Given the description of an element on the screen output the (x, y) to click on. 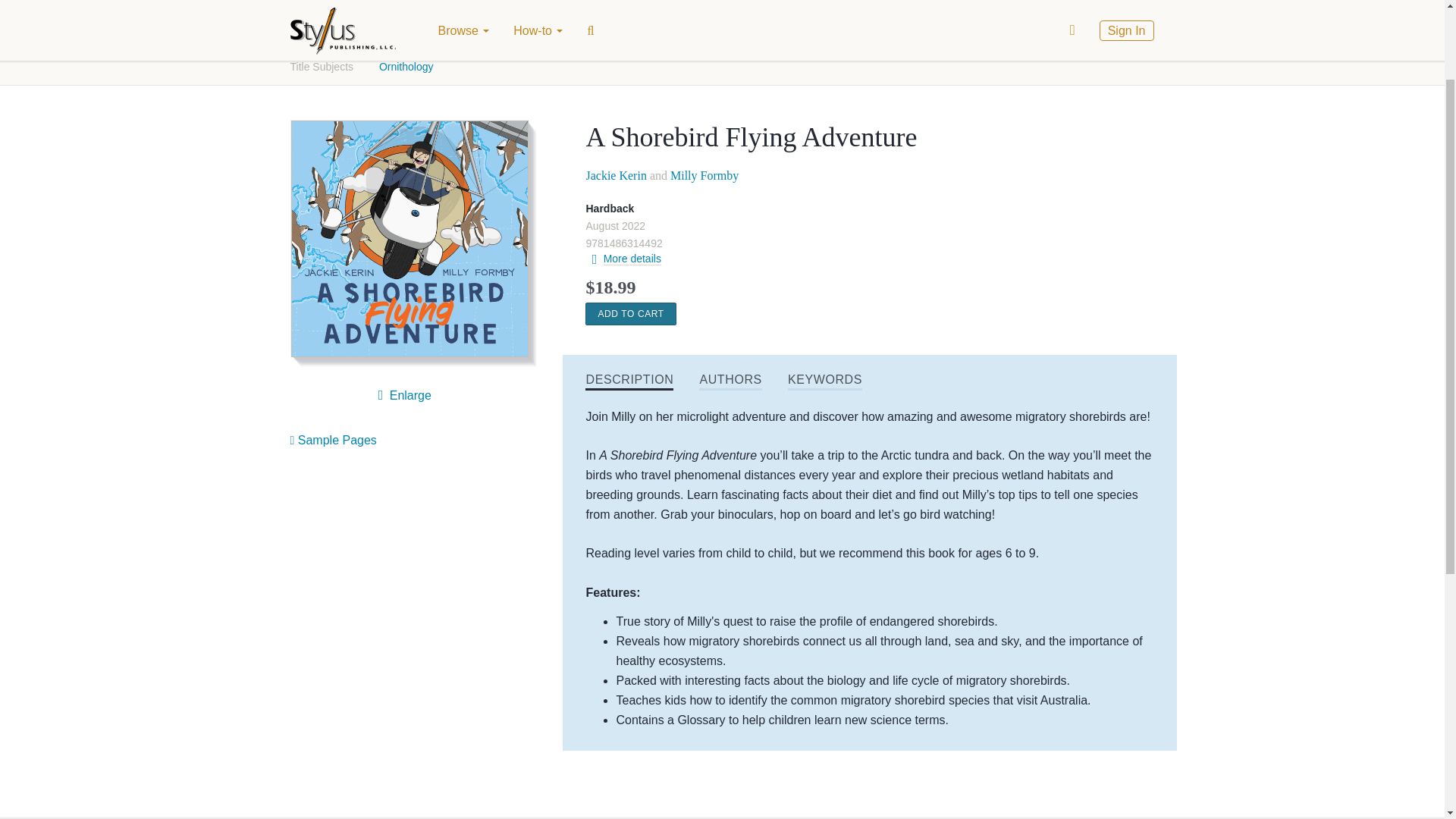
Jackie Kerin (615, 174)
Series (582, 22)
DESCRIPTION (629, 380)
Milly Formby (703, 174)
Forthcoming (433, 22)
ADD TO CART (630, 313)
 Sample Pages (332, 440)
About CSIRO Publishing (693, 22)
Books (306, 22)
Ornithology (405, 66)
